Given the description of an element on the screen output the (x, y) to click on. 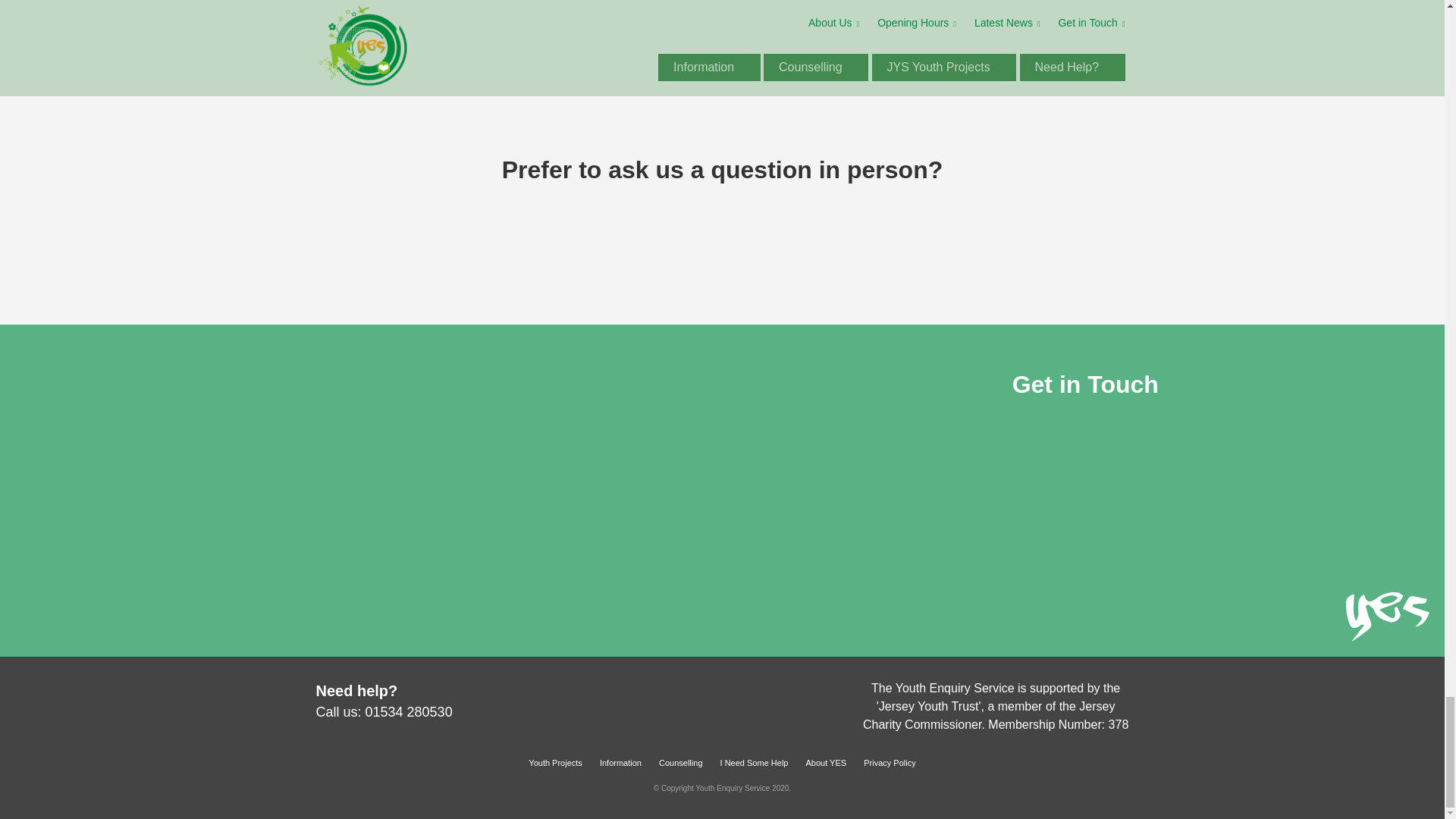
Facebook (721, 696)
Twitter (744, 696)
Instagram (698, 696)
